Given the description of an element on the screen output the (x, y) to click on. 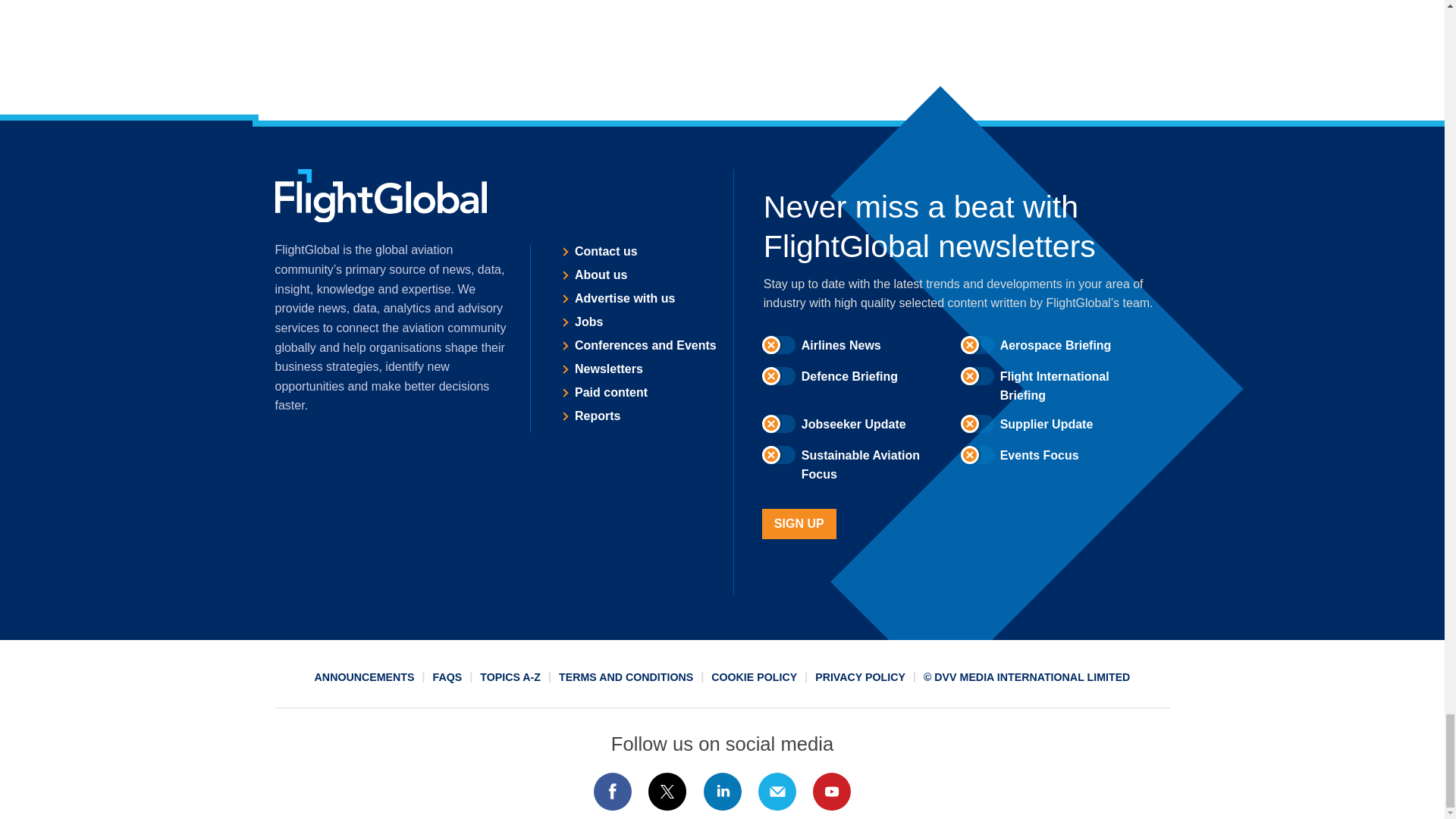
Connect with us on Youtube (831, 791)
Connect with us on Linked In (721, 791)
Connect with us on Facebook (611, 791)
Connect with us on Twitter (667, 791)
Email us (776, 791)
